Given the description of an element on the screen output the (x, y) to click on. 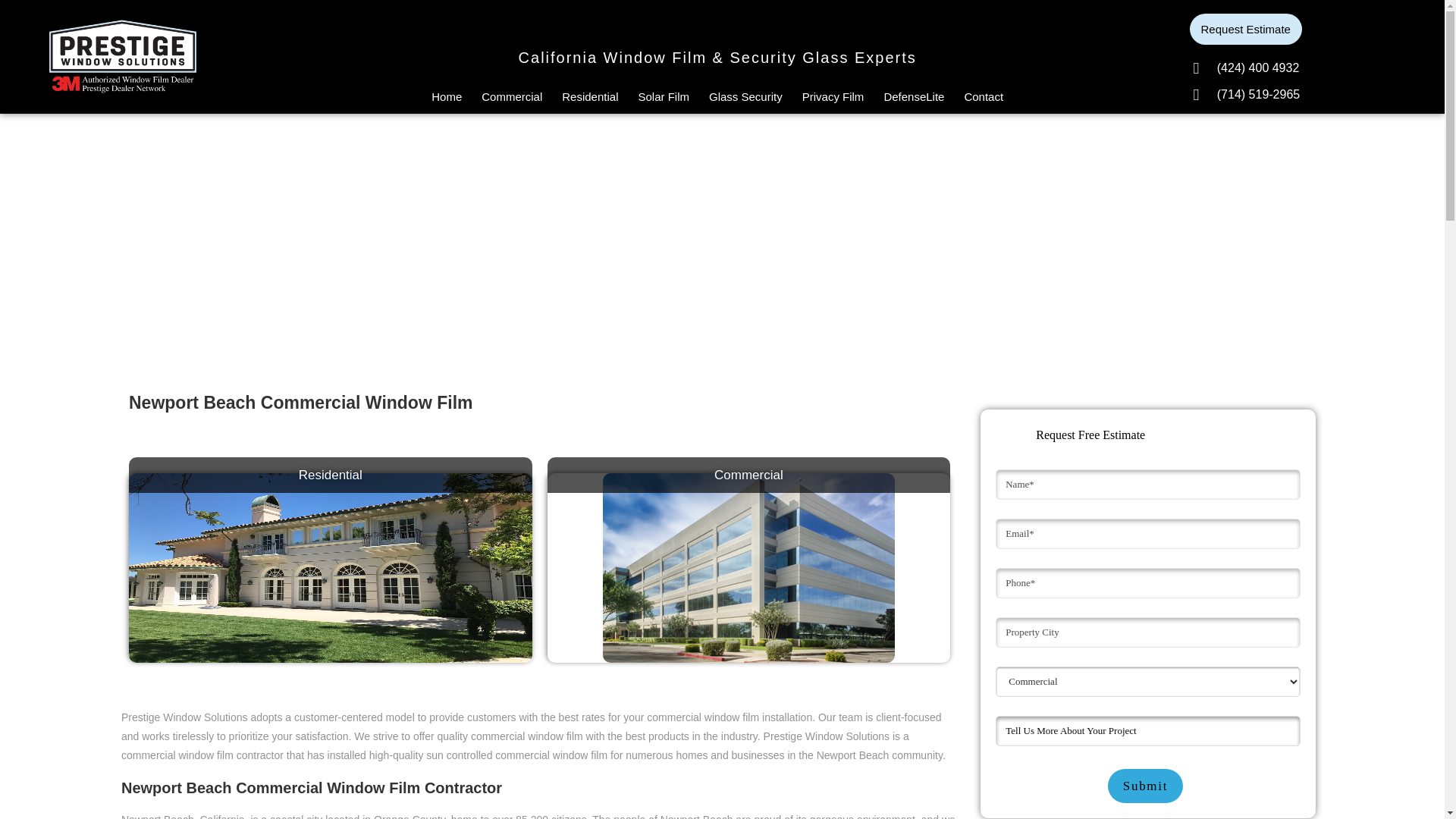
Commercial (511, 96)
Contact (983, 96)
DefenseLite (914, 96)
Residential (590, 96)
Request Estimate (1245, 29)
Solar Film (663, 96)
Glass Security (746, 96)
Privacy Film (833, 96)
Submit (1145, 786)
Home (446, 96)
